Given the description of an element on the screen output the (x, y) to click on. 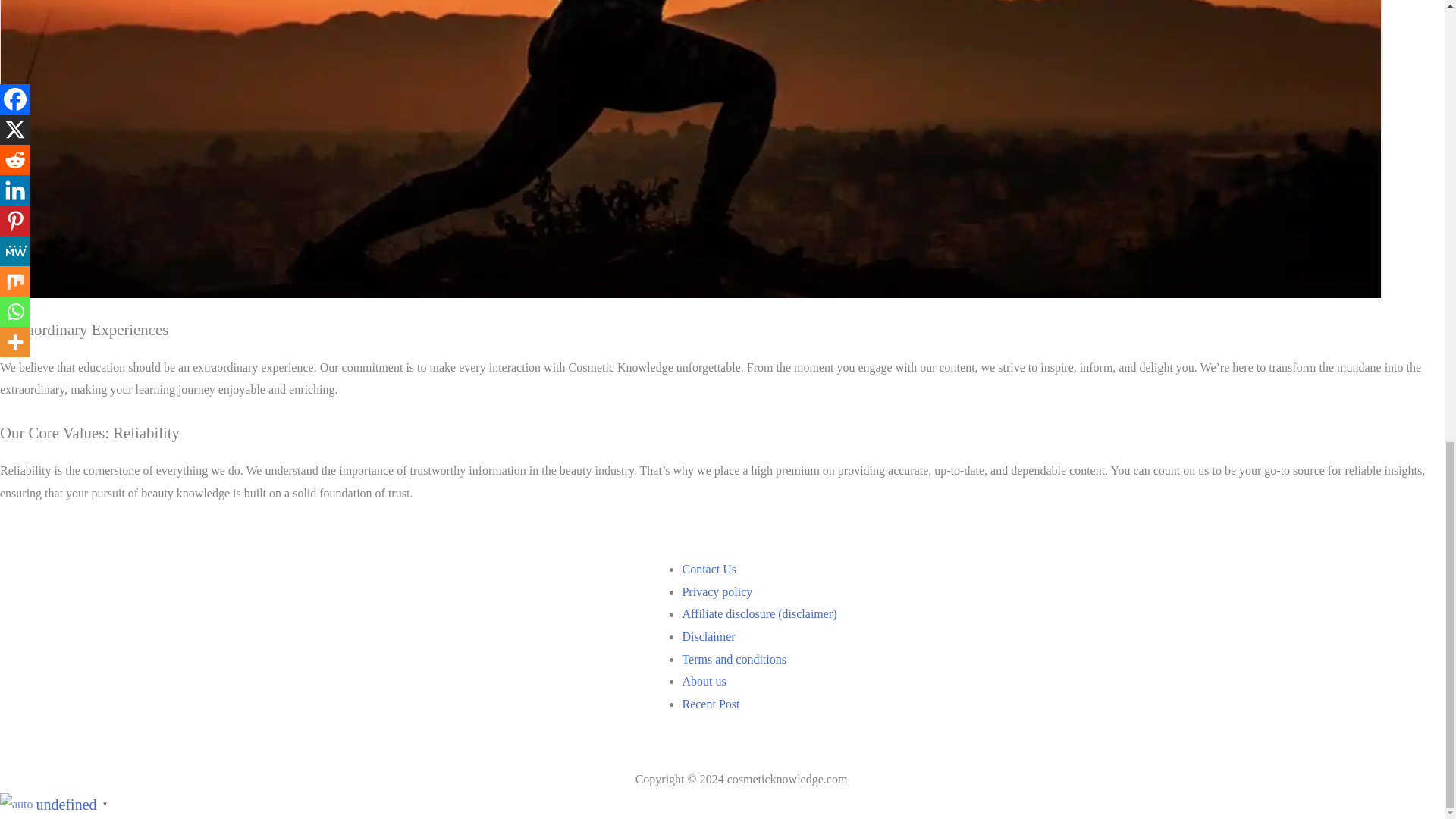
Contact Us (708, 568)
Recent Post (710, 703)
Disclaimer (708, 635)
Terms and conditions (733, 658)
About us (703, 680)
Privacy policy (716, 591)
